Given the description of an element on the screen output the (x, y) to click on. 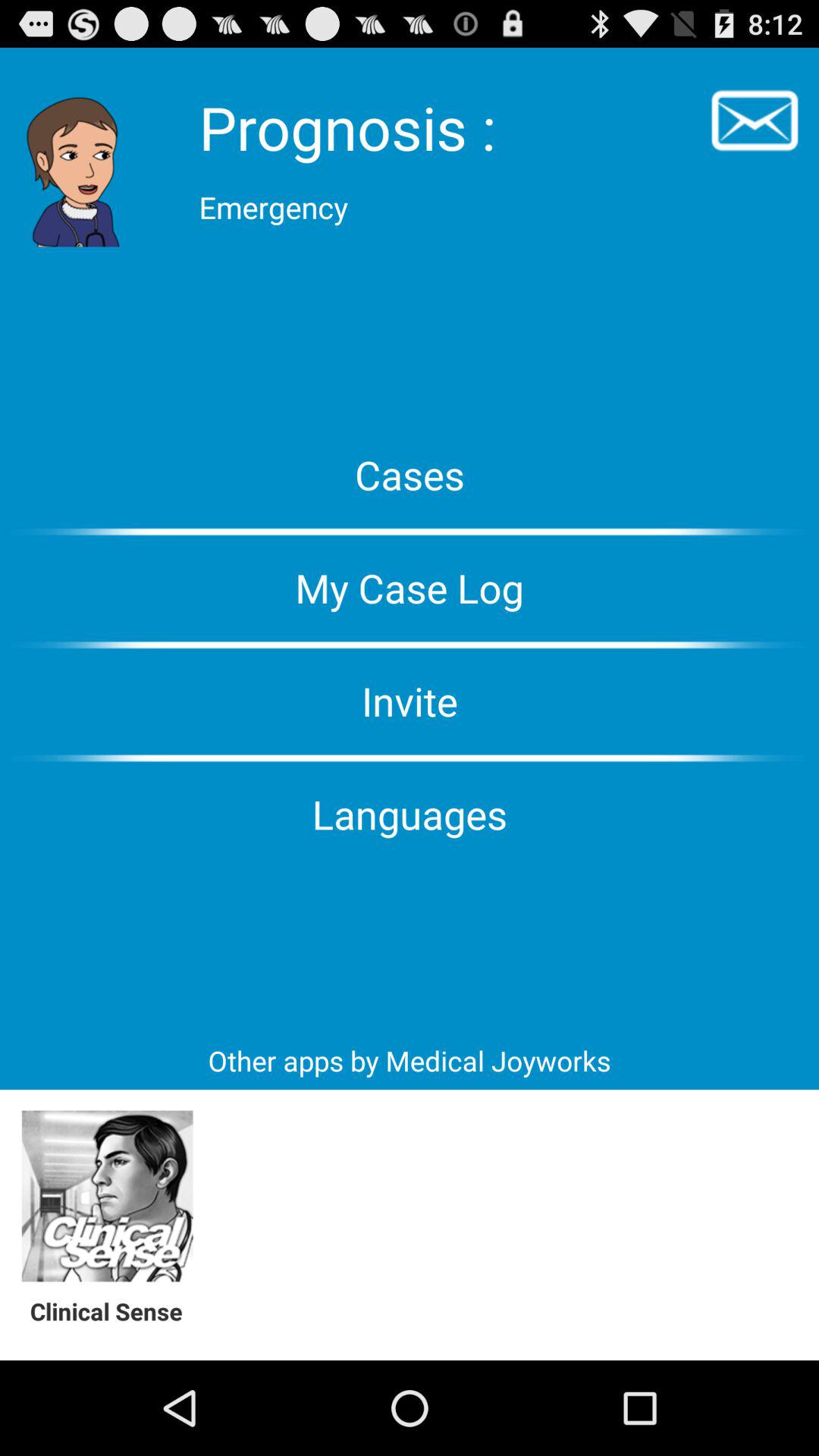
select clinical sense (107, 1196)
